Given the description of an element on the screen output the (x, y) to click on. 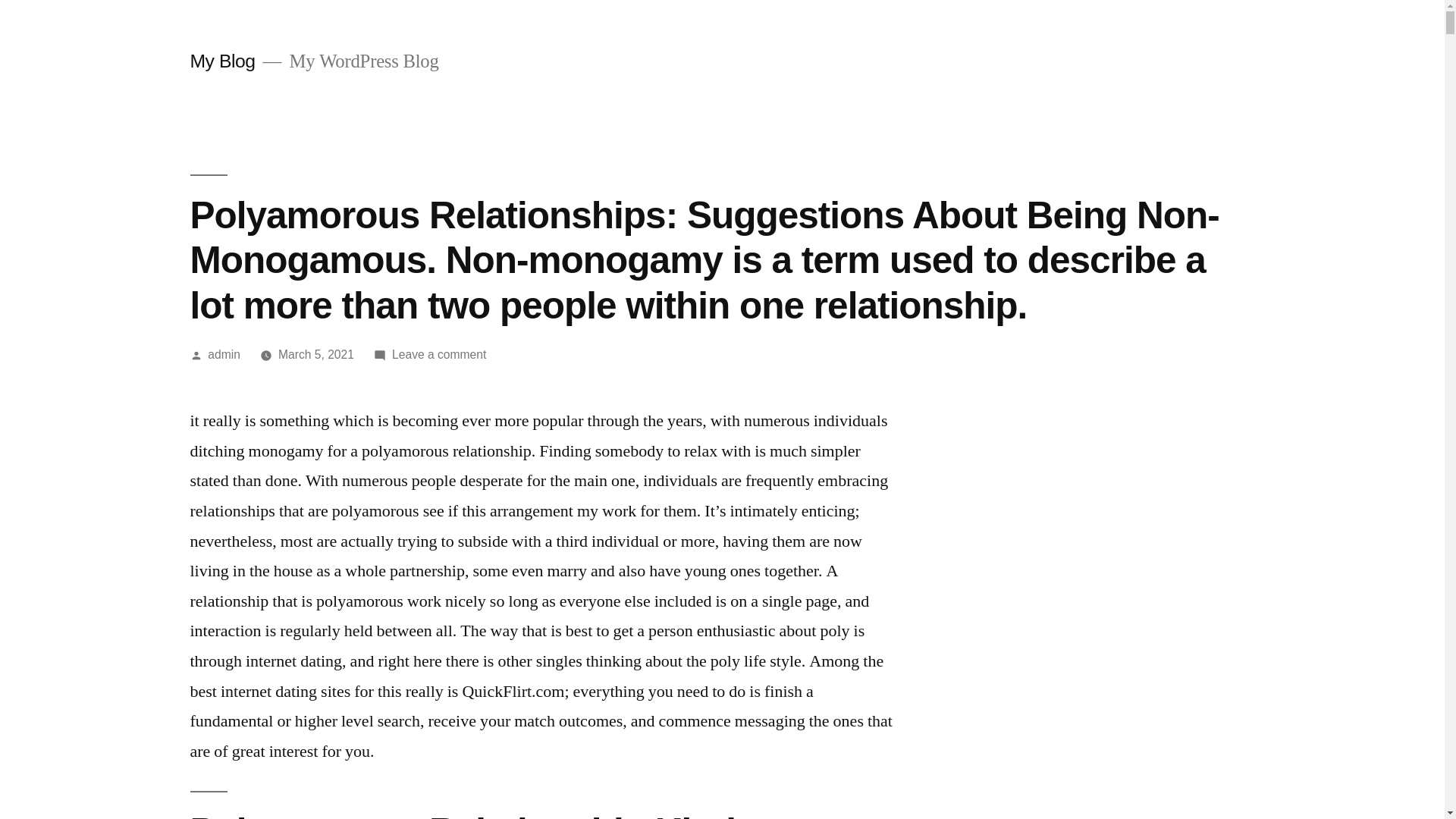
My Blog (221, 60)
March 5, 2021 (315, 354)
admin (224, 354)
